Given the description of an element on the screen output the (x, y) to click on. 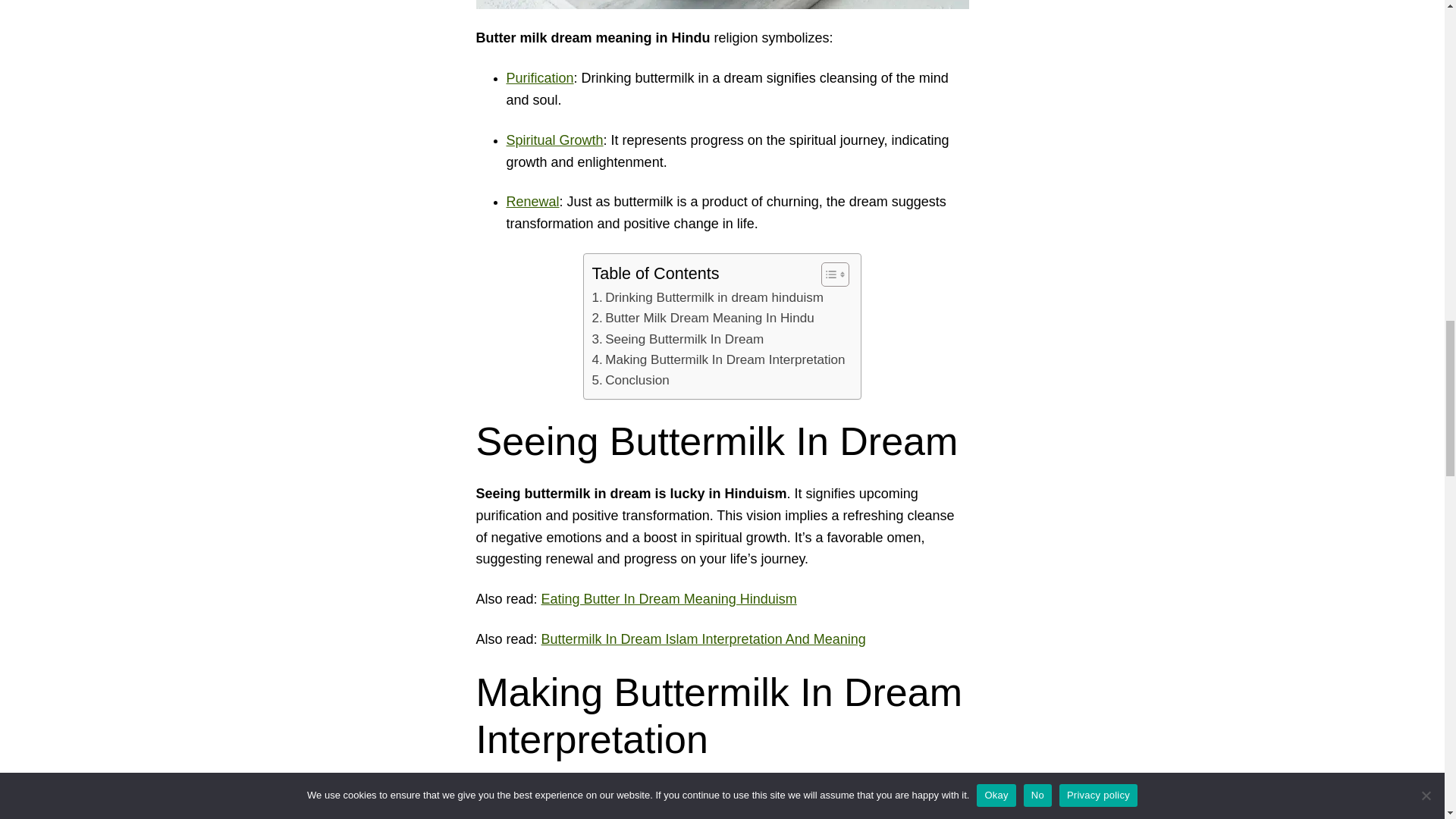
Making Buttermilk In Dream Interpretation (717, 359)
Drinking Buttermilk in dream hinduism (707, 297)
Purification (539, 77)
Drinking Buttermilk in dream hinduism (707, 297)
Butter Milk Dream Meaning In Hindu (702, 317)
Conclusion (629, 380)
Making Buttermilk In Dream Interpretation (717, 359)
Seeing Buttermilk In Dream (676, 339)
Spiritual Growth (555, 140)
Buttermilk In Dream Islam Interpretation And Meaning (703, 639)
Renewal (532, 201)
Butter Milk Dream Meaning In Hindu (702, 317)
Eating Butter In Dream Meaning Hinduism (668, 598)
Conclusion (629, 380)
Seeing Buttermilk In Dream (676, 339)
